Given the description of an element on the screen output the (x, y) to click on. 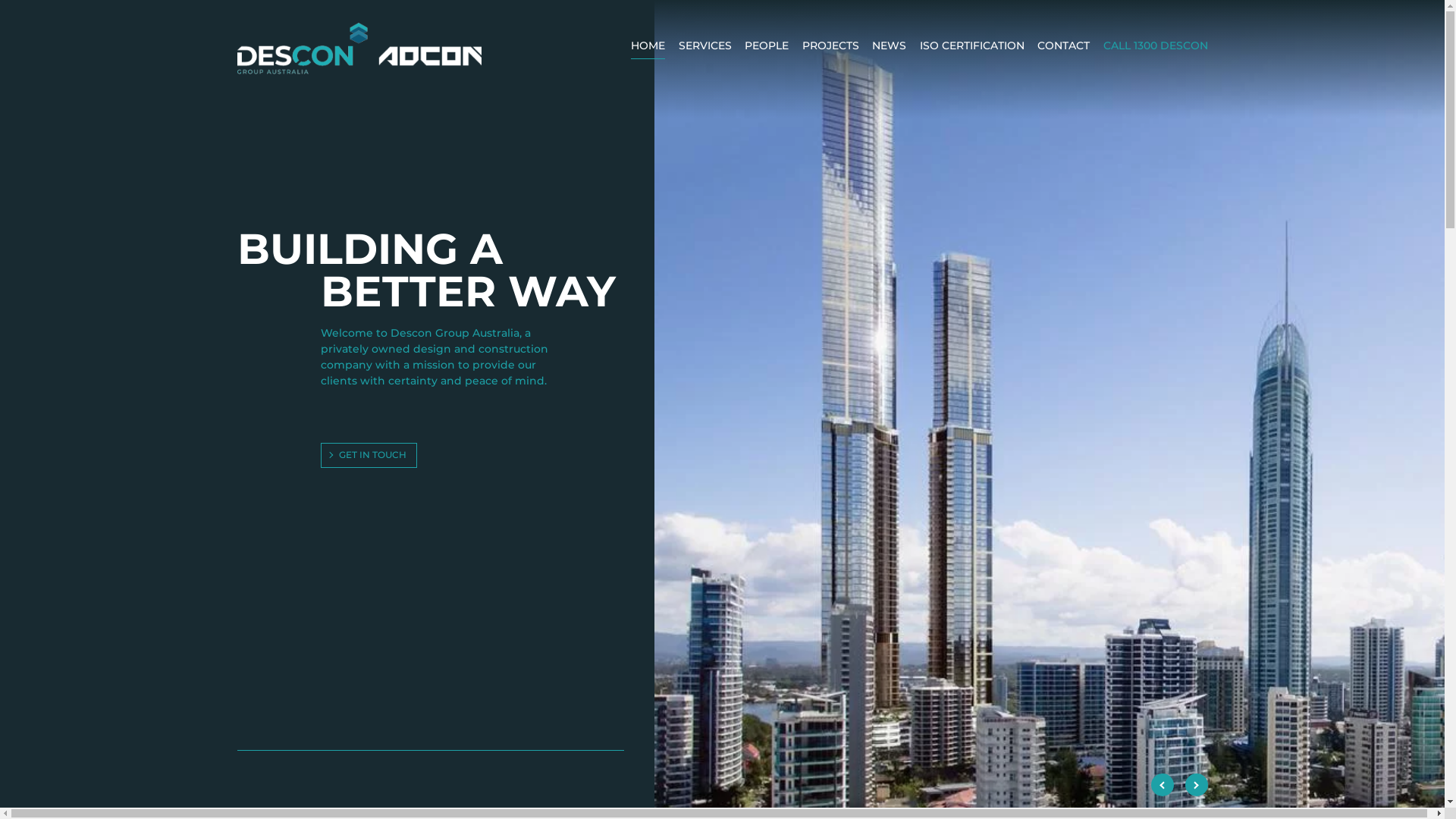
GET IN TOUCH Element type: text (368, 454)
ISO CERTIFICATION Element type: text (971, 48)
PEOPLE Element type: text (766, 48)
CALL 1300 DESCON Element type: text (1154, 48)
NEWS Element type: text (889, 48)
CONTACT Element type: text (1063, 48)
SERVICES Element type: text (704, 48)
Skip to content Element type: text (0, 0)
PROJECTS Element type: text (830, 48)
HOME Element type: text (647, 48)
